Given the description of an element on the screen output the (x, y) to click on. 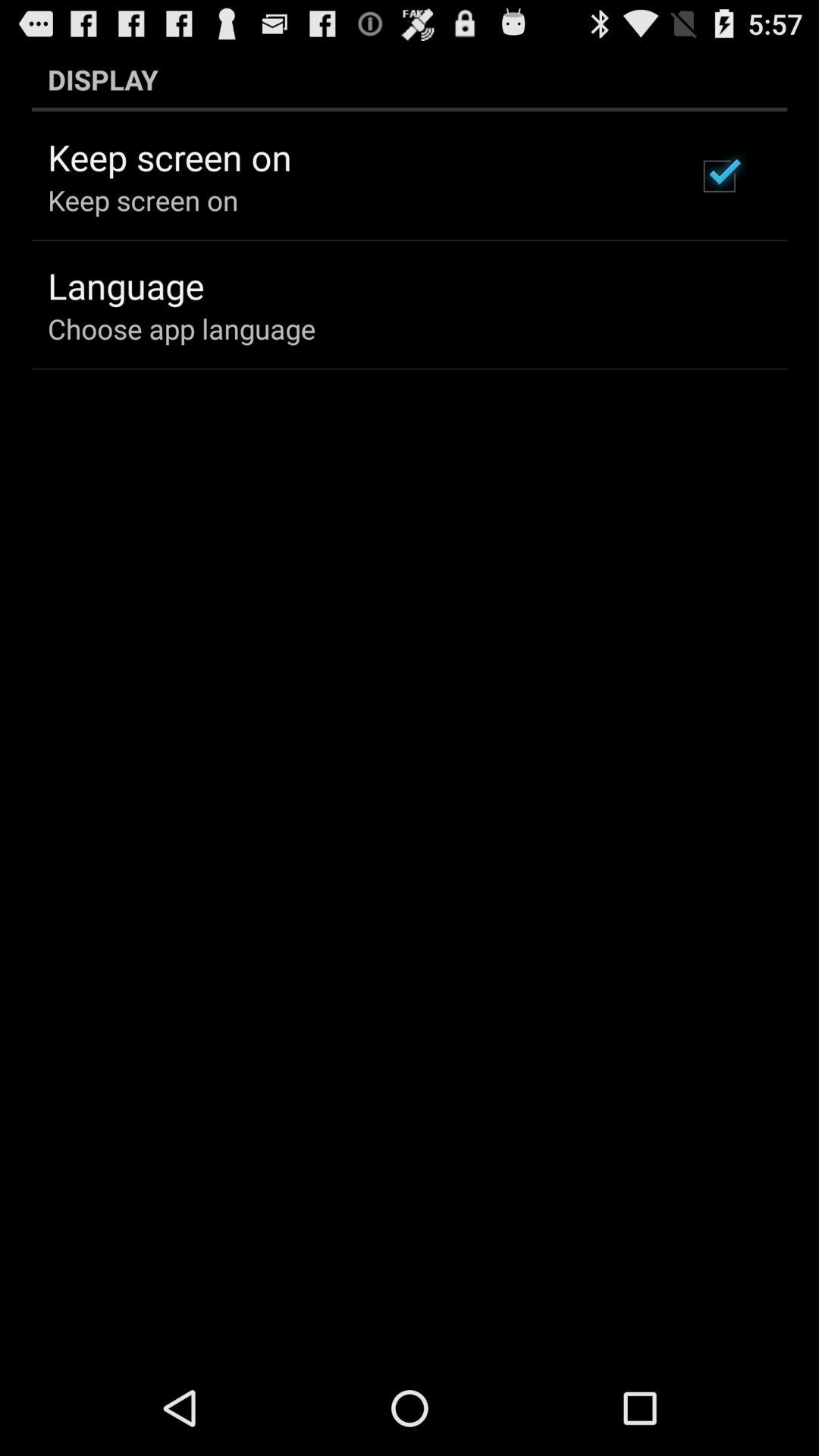
tap choose app language app (181, 328)
